Given the description of an element on the screen output the (x, y) to click on. 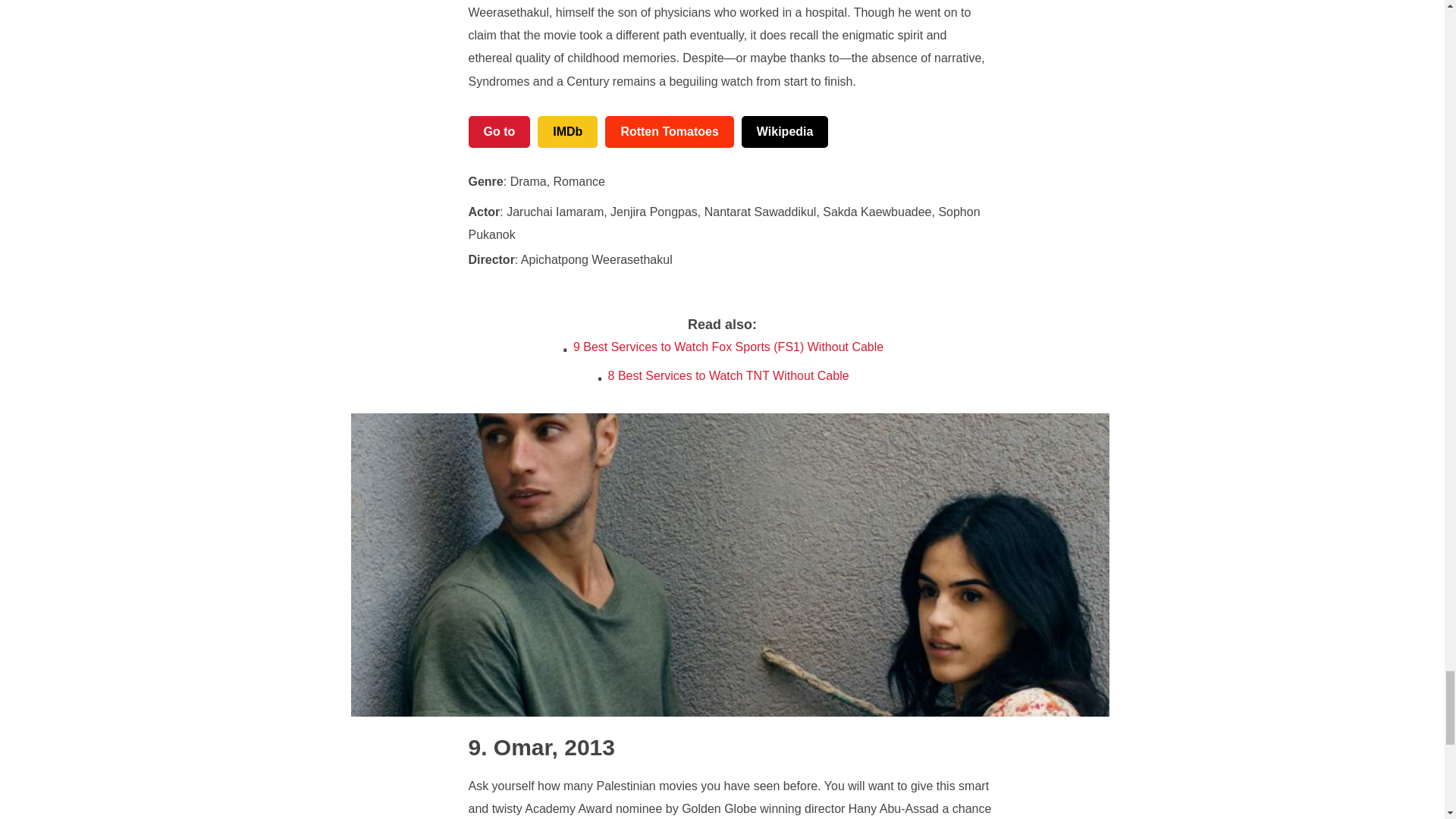
Omar (509, 747)
